Given the description of an element on the screen output the (x, y) to click on. 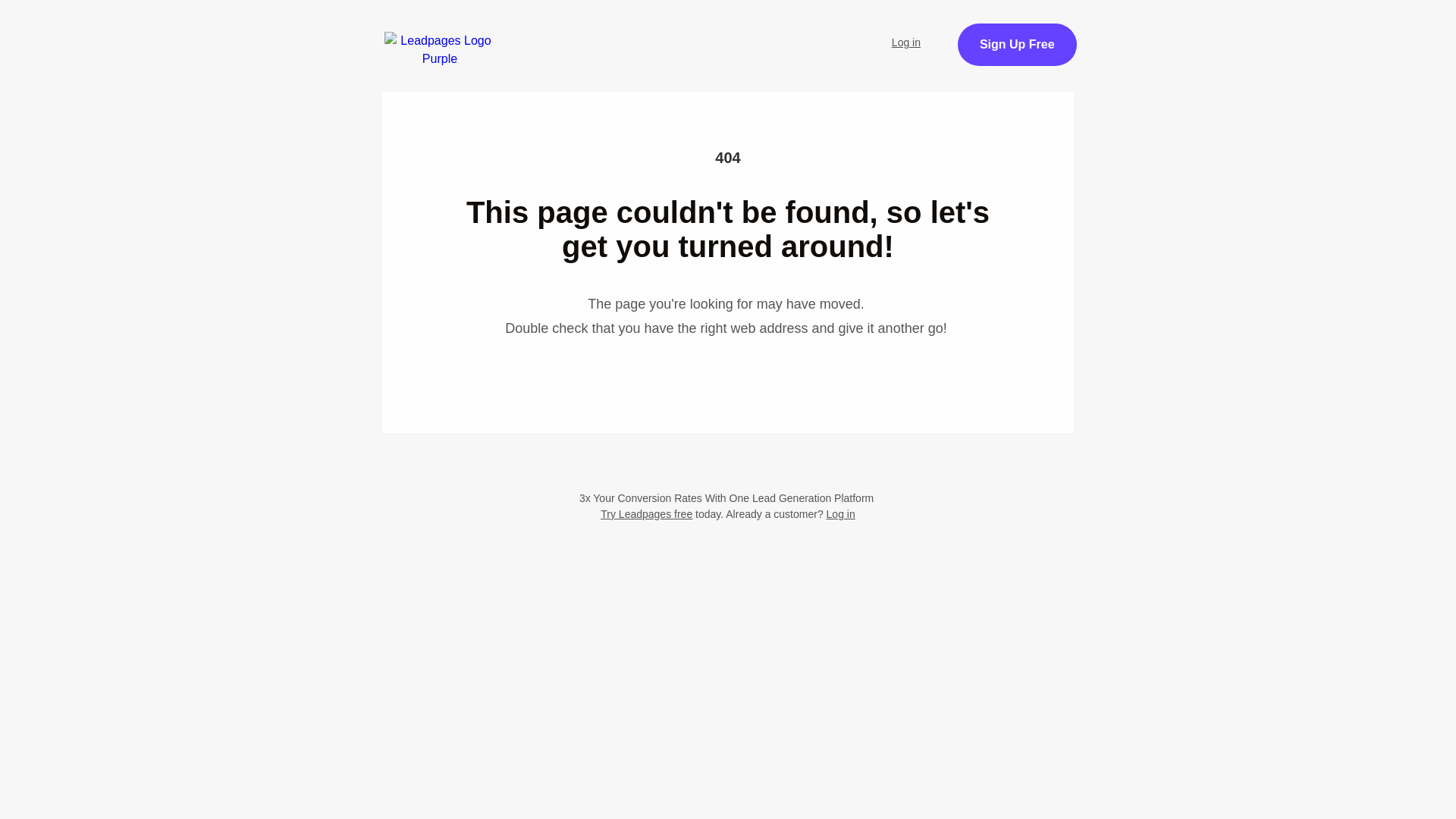
Get Free Book From The Ministry (727, 150)
Our Verse of the Day (791, 33)
HOME (501, 33)
Get Free Prophecy (1070, 53)
Start Spiritual Gifts Test (627, 33)
Give To The Ministry (529, 74)
